Given the description of an element on the screen output the (x, y) to click on. 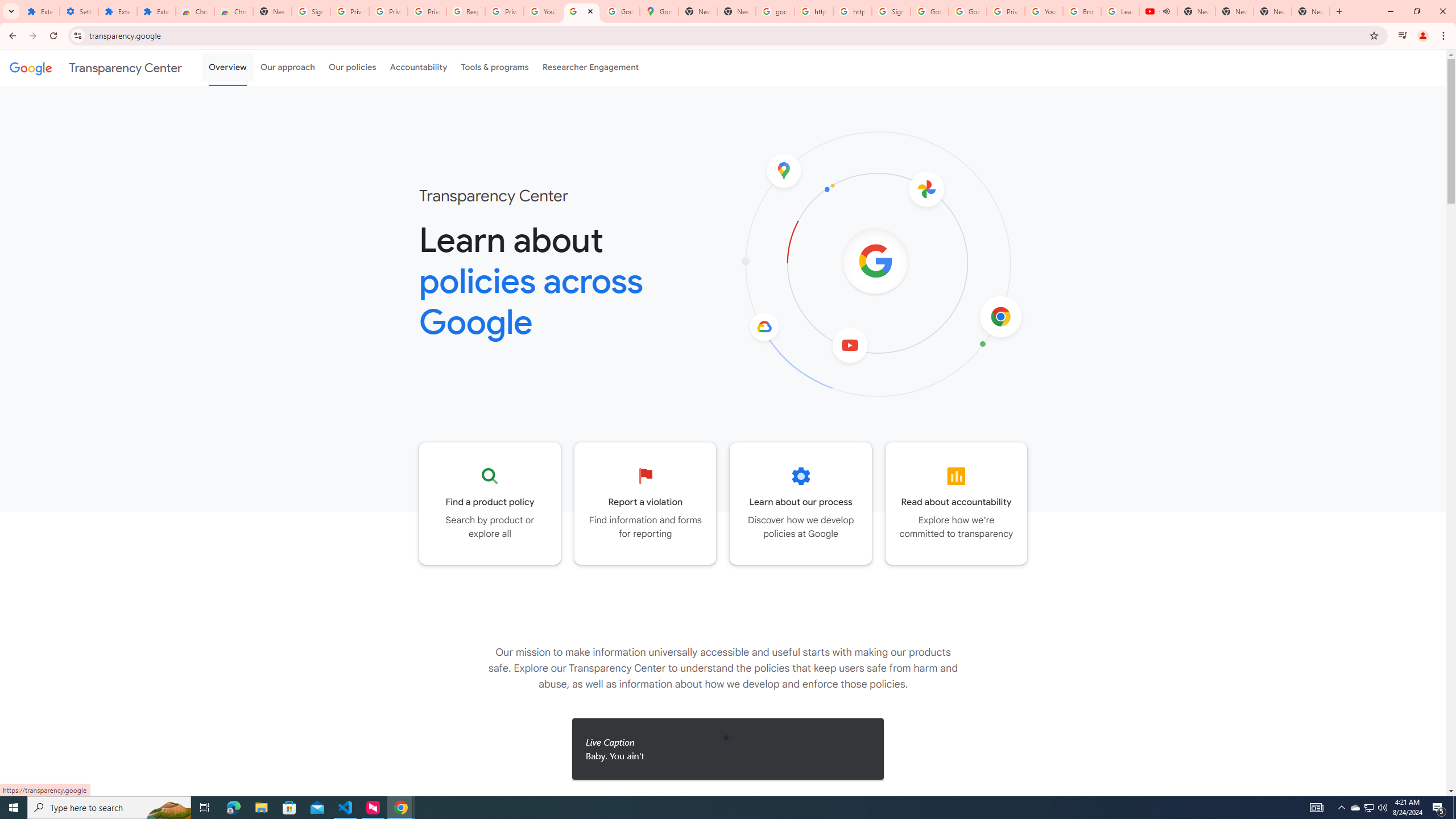
Go to the Product policy page (490, 503)
New Tab (1311, 11)
Mute tab (1165, 10)
Tools & programs (494, 67)
Go to the Reporting and appeals page (645, 503)
Extensions (156, 11)
